Given the description of an element on the screen output the (x, y) to click on. 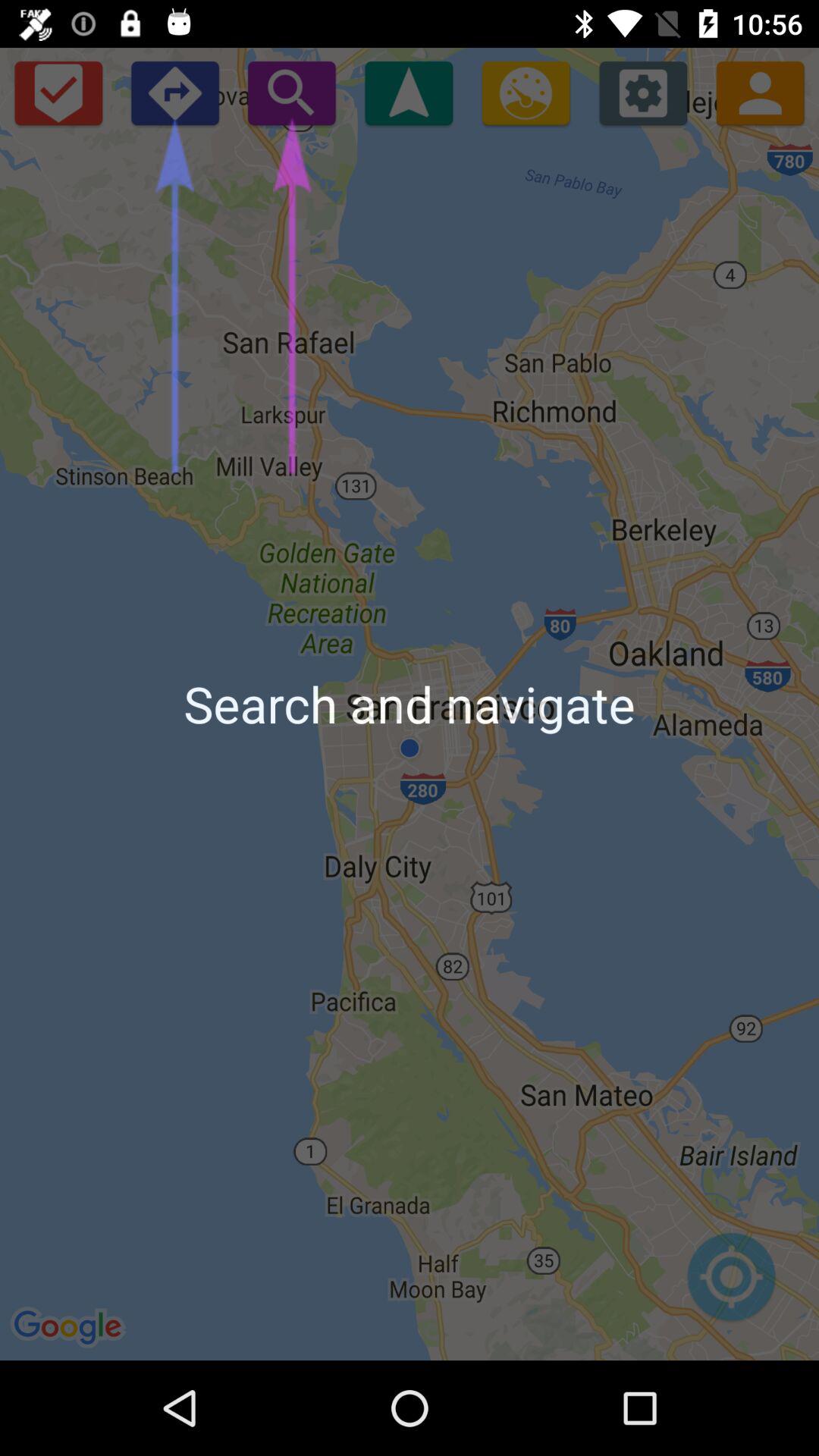
choose the item above the search and navigate app (642, 92)
